Given the description of an element on the screen output the (x, y) to click on. 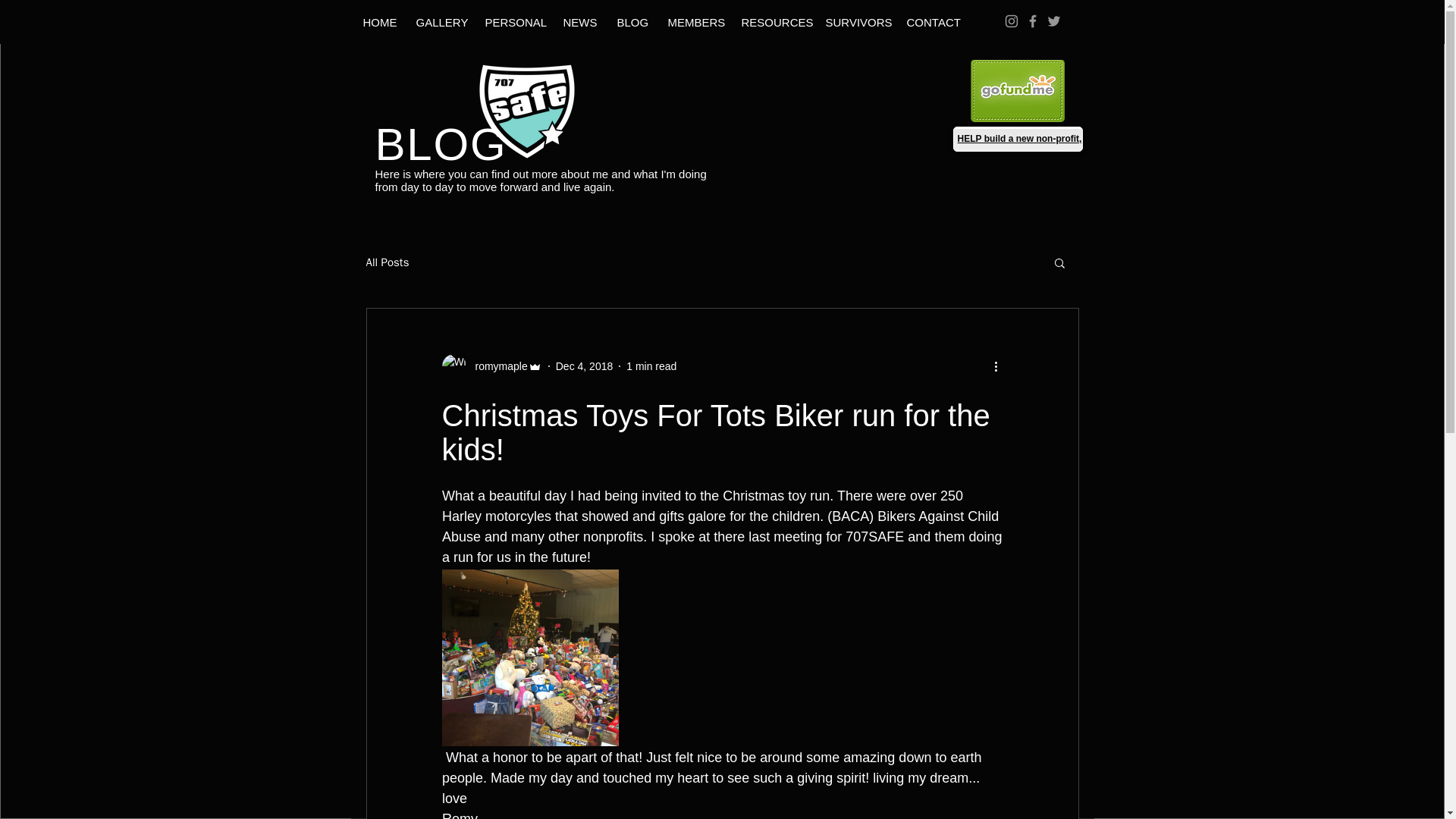
Dec 4, 2018 (584, 365)
CONTACT (928, 22)
1 min read (651, 365)
romymaple (496, 365)
MEMBERS (692, 22)
romymaple (491, 365)
NEWS (577, 22)
GALLERY (437, 22)
BLOG (630, 22)
HELP build a new non-profit, (1019, 138)
